Given the description of an element on the screen output the (x, y) to click on. 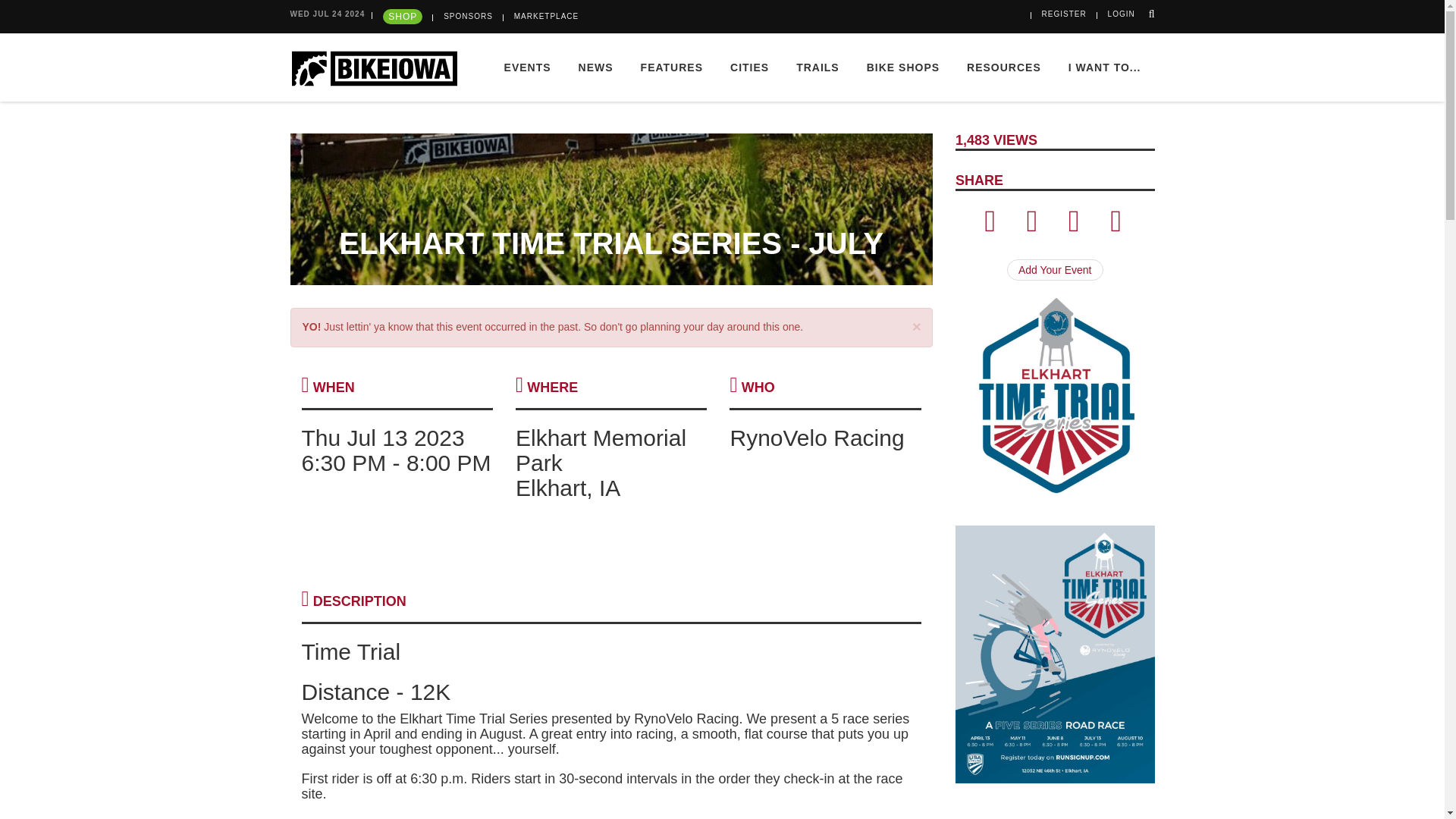
Click to Share via Facebook (990, 227)
NEWS (595, 67)
Click to Share via Email (1073, 227)
RESOURCES (1003, 67)
TRAILS (818, 67)
LOGIN (1121, 13)
Click to Share via Twitter (1031, 227)
SPONSORS (468, 16)
EVENTS (527, 67)
REGISTER (1064, 13)
SHOP (402, 16)
MARKETPLACE (545, 16)
BIKE SHOPS (903, 67)
FEATURES (671, 67)
